Given the description of an element on the screen output the (x, y) to click on. 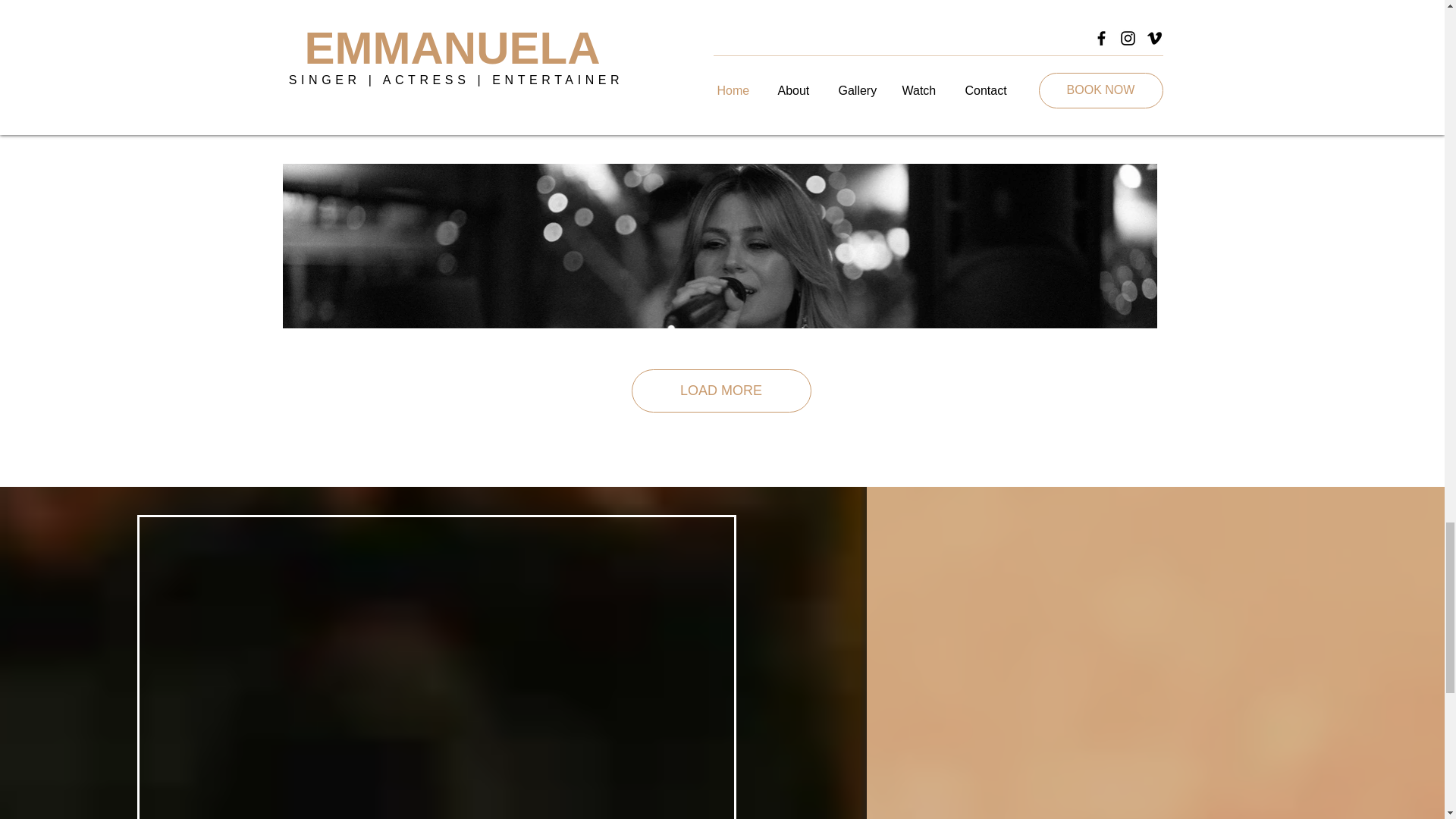
LOAD MORE (720, 390)
